Given the description of an element on the screen output the (x, y) to click on. 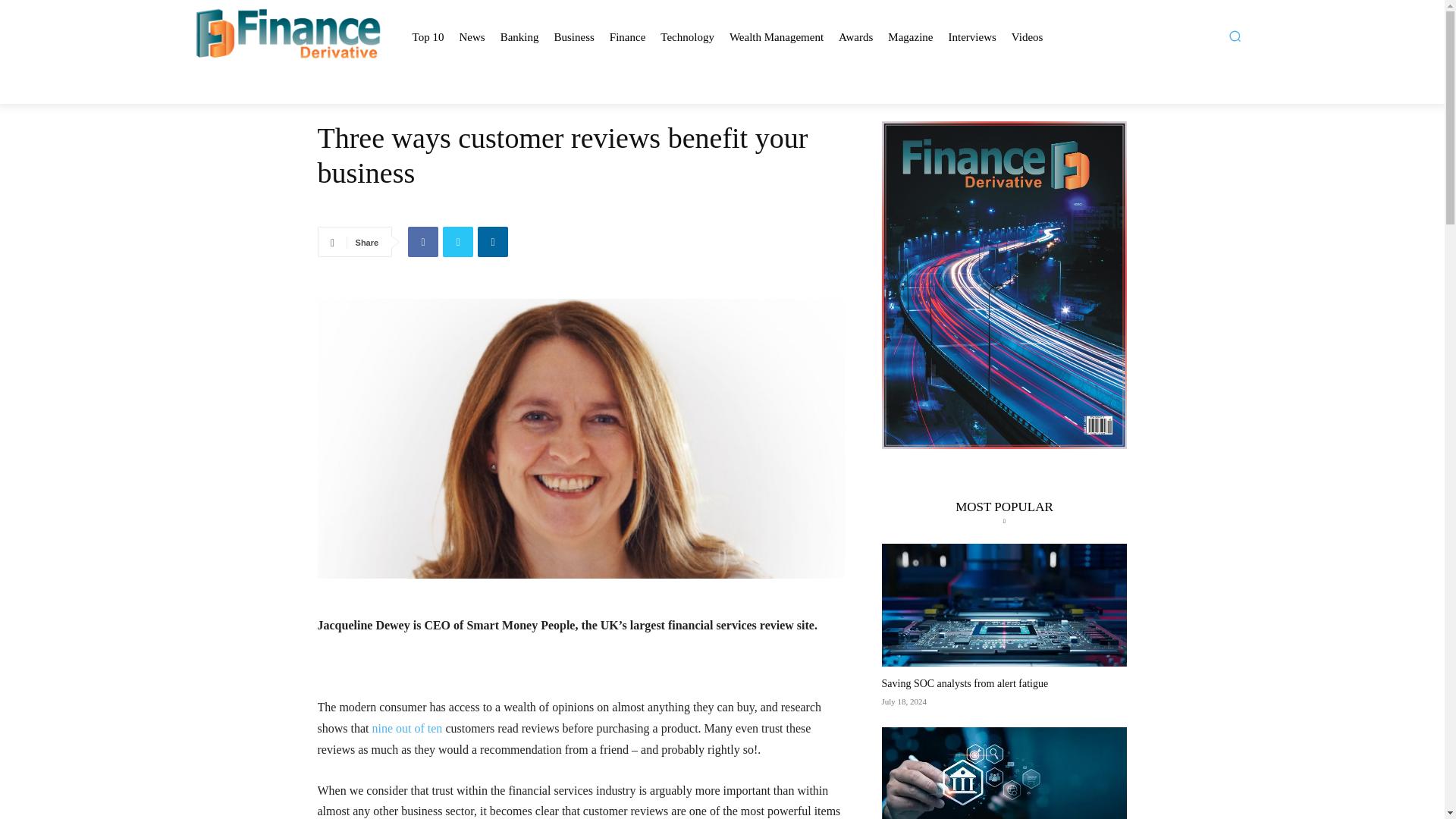
Business (573, 37)
Interviews (972, 37)
News (470, 37)
Technology (686, 37)
Top 10 (428, 37)
Wealth Management (776, 37)
Videos (1026, 37)
nine out of ten (406, 727)
Awards (855, 37)
Saving SOC analysts from alert fatigue (964, 683)
Finance (627, 37)
Magazine (909, 37)
Twitter (457, 241)
Facebook (422, 241)
Linkedin (492, 241)
